Given the description of an element on the screen output the (x, y) to click on. 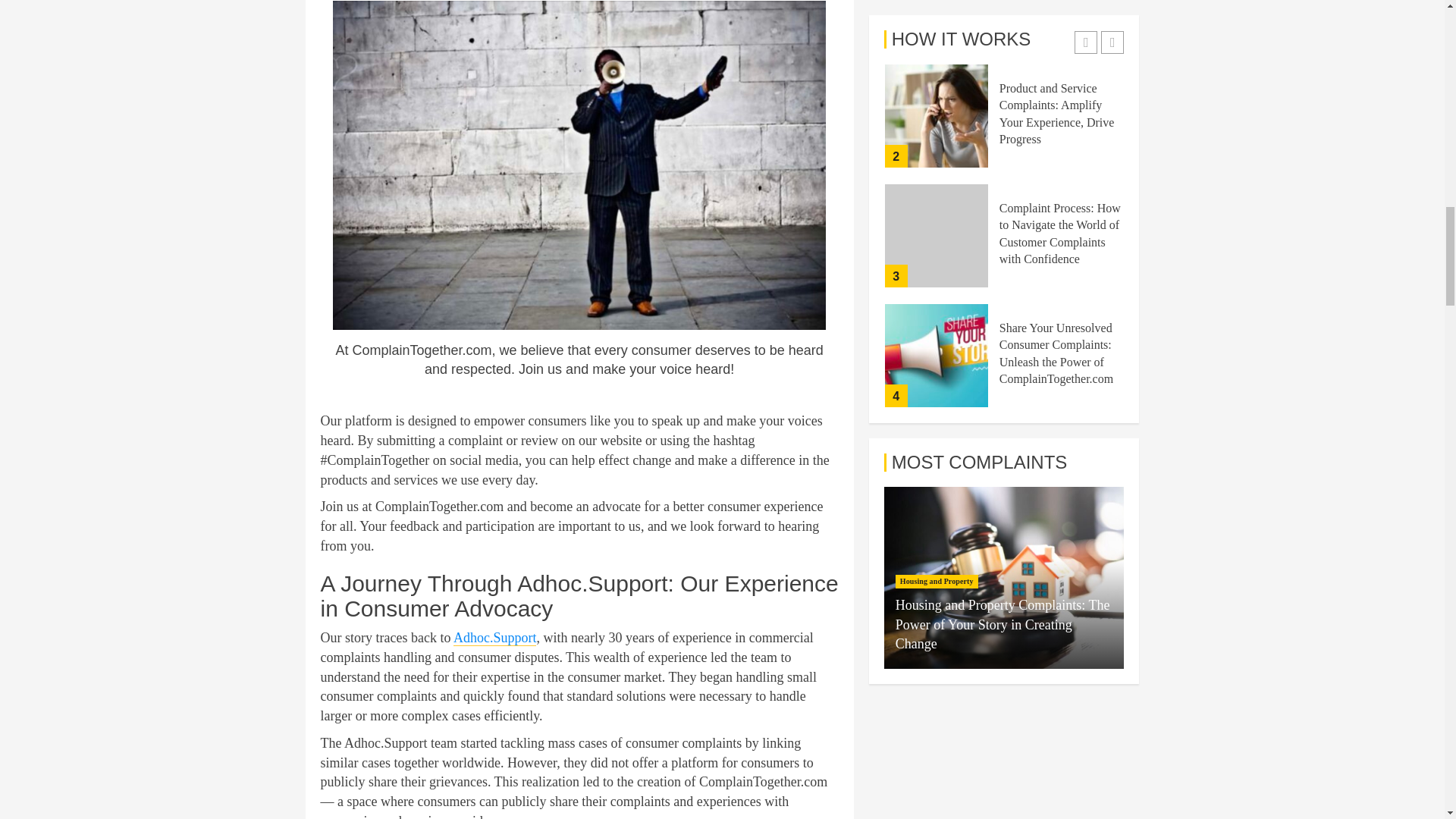
Adhoc.Support (494, 637)
